Given the description of an element on the screen output the (x, y) to click on. 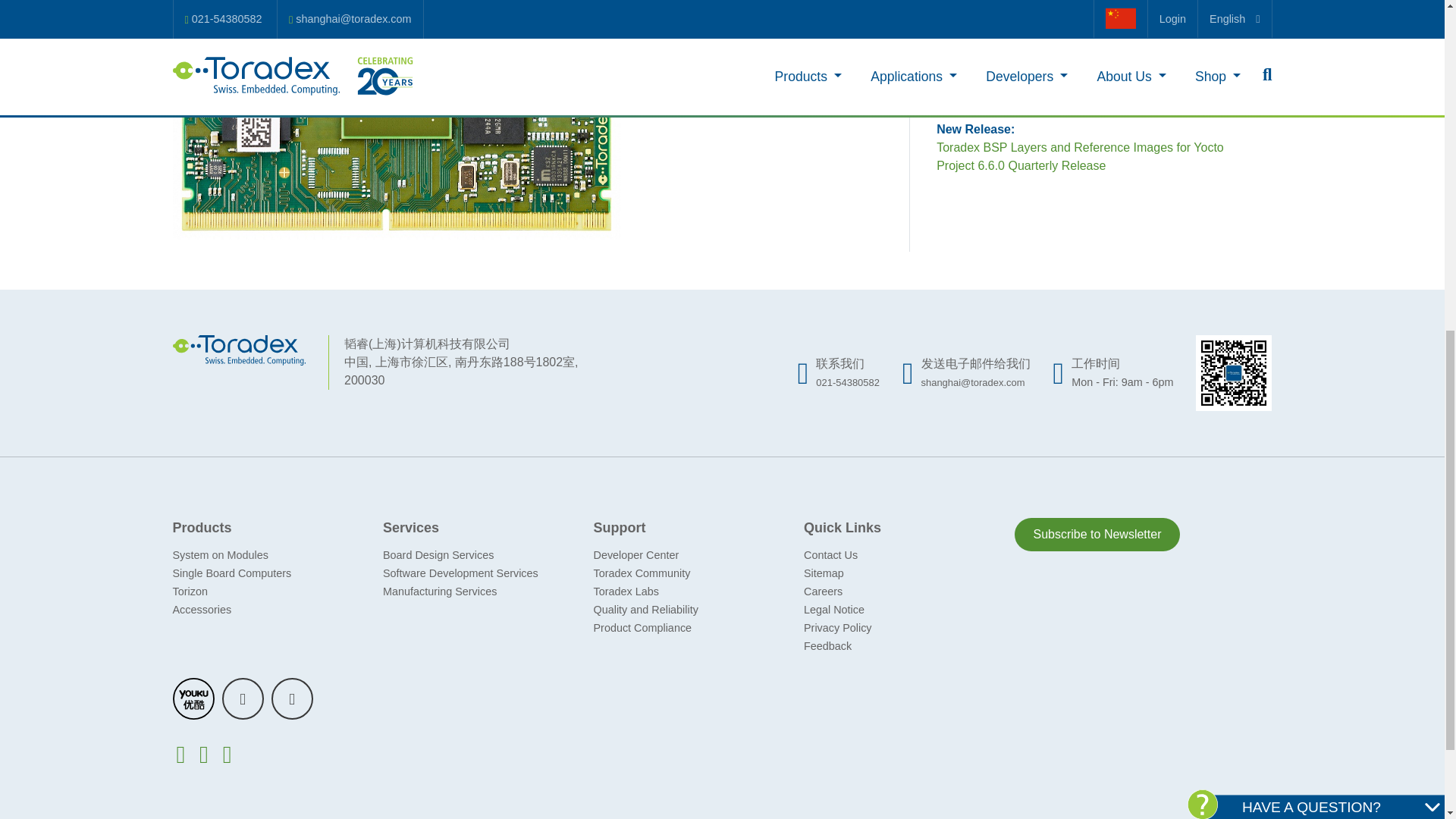
Apalis iMX6 (396, 119)
Toradex - Global Leader in Arm Embedded Computer Modules (239, 349)
